Given the description of an element on the screen output the (x, y) to click on. 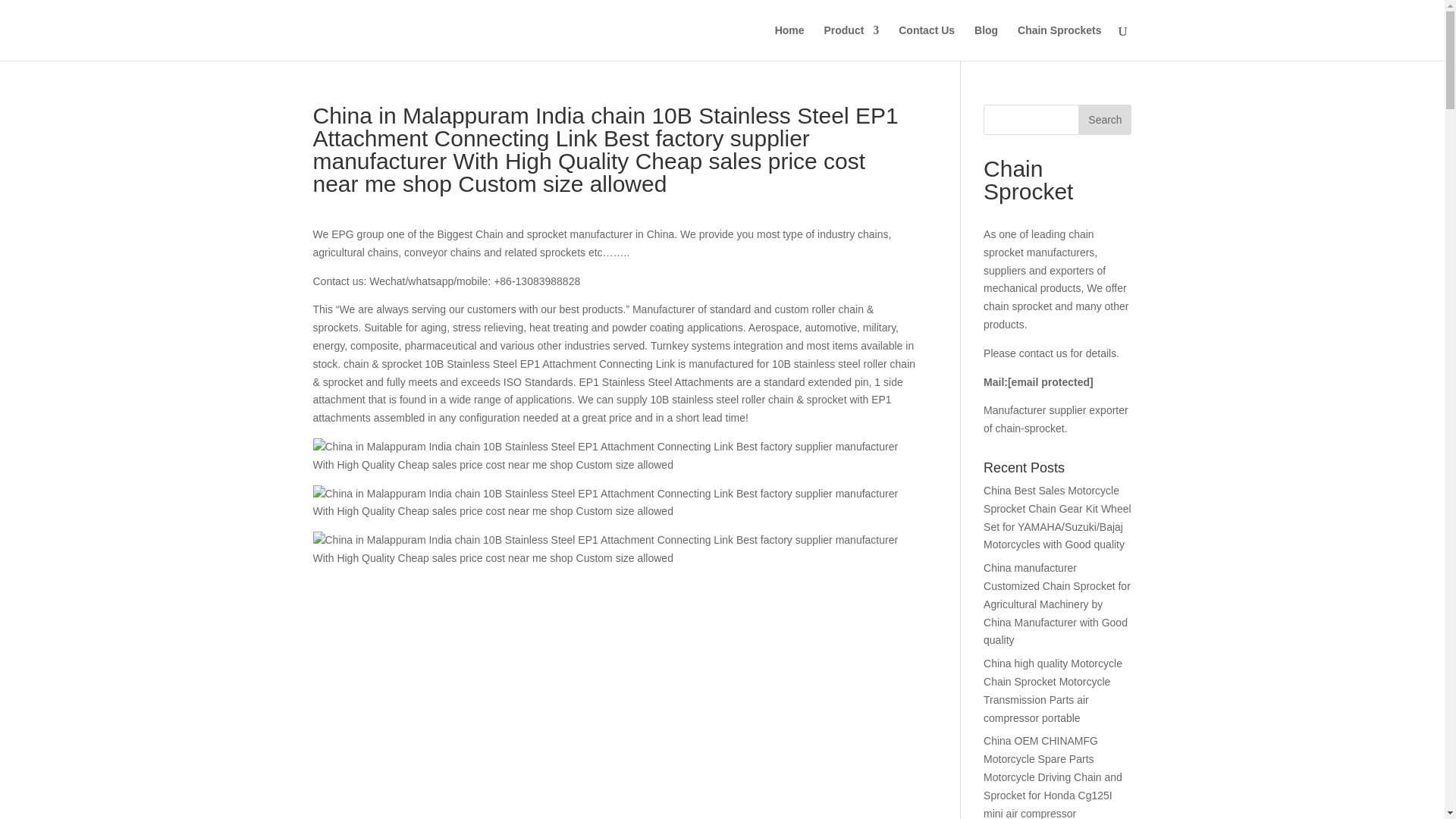
Search (1104, 119)
Contact Us (926, 42)
Product (851, 42)
Chain Sprockets (1058, 42)
Search (1104, 119)
